Given the description of an element on the screen output the (x, y) to click on. 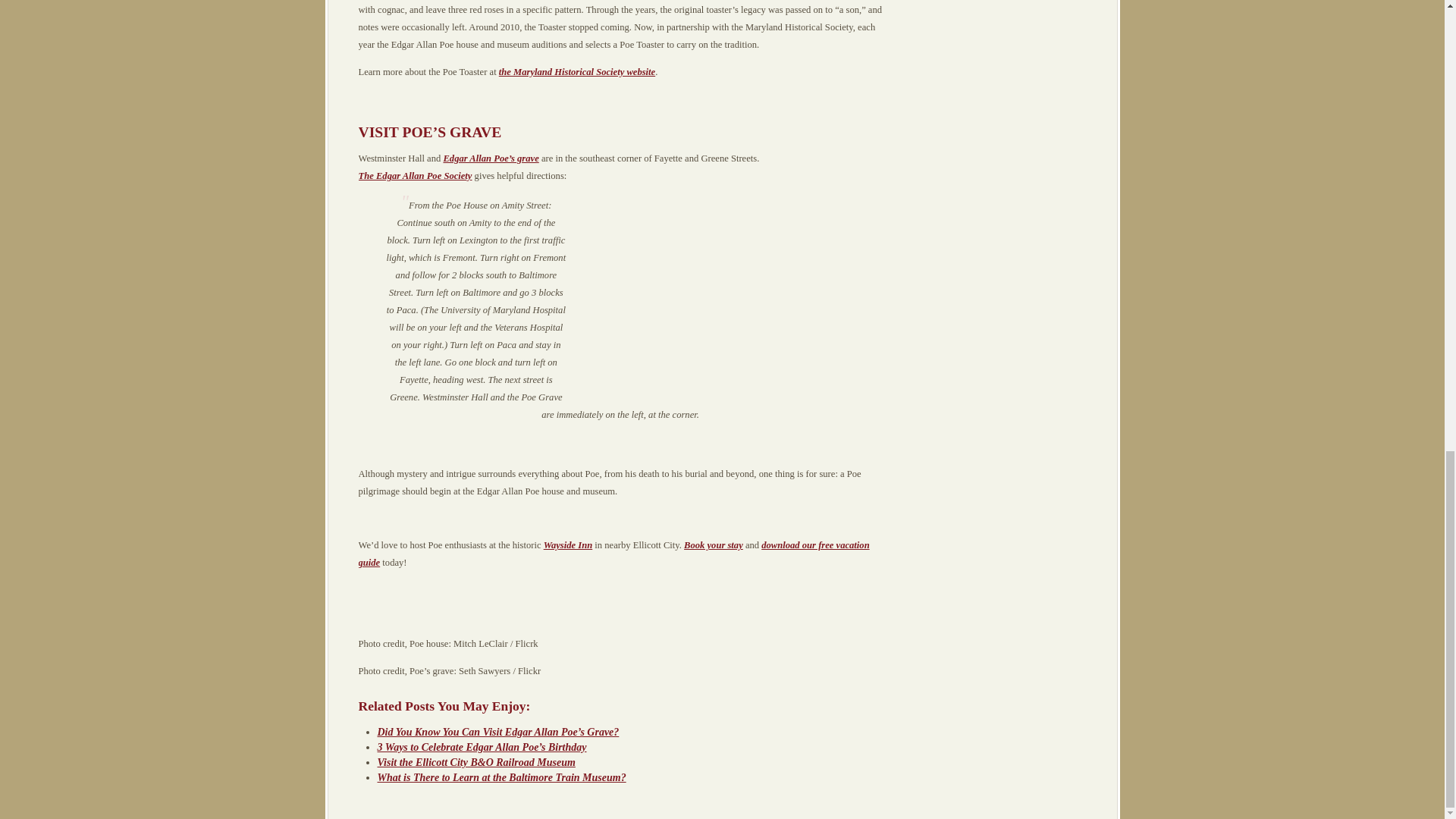
Book your stay (713, 544)
the Maryland Historical Society website (577, 71)
The Edgar Allan Poe Society (414, 175)
Wayside Inn (567, 544)
download our free vacation guide (613, 553)
What is There to Learn at the Baltimore Train Museum? (501, 777)
What is There to Learn at the Baltimore Train Museum? (501, 777)
